Given the description of an element on the screen output the (x, y) to click on. 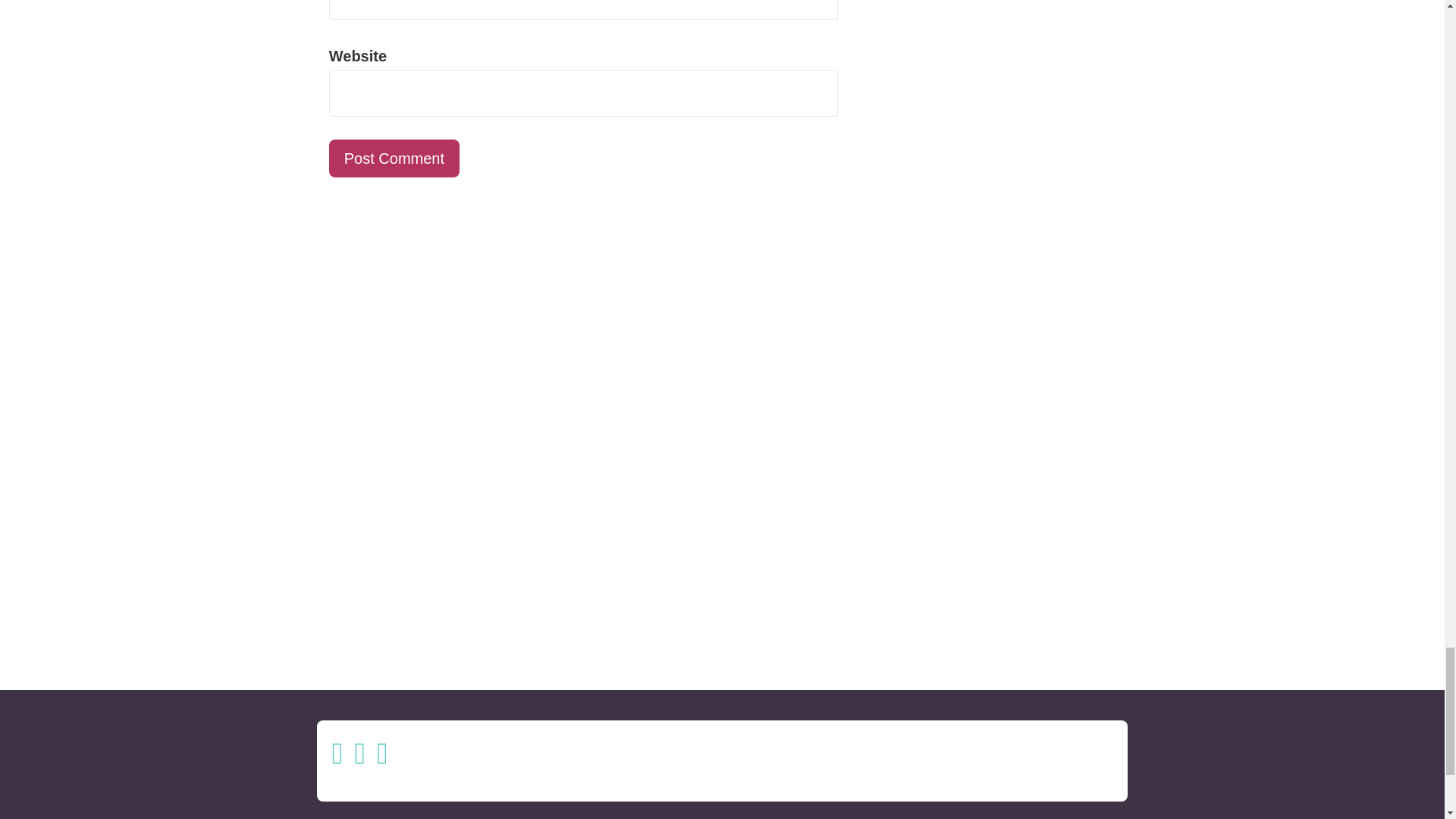
Visit Happy Family Hub on Twitter (359, 758)
Post Comment (394, 158)
Visit Happy Family Hub on Instagram (337, 758)
